Given the description of an element on the screen output the (x, y) to click on. 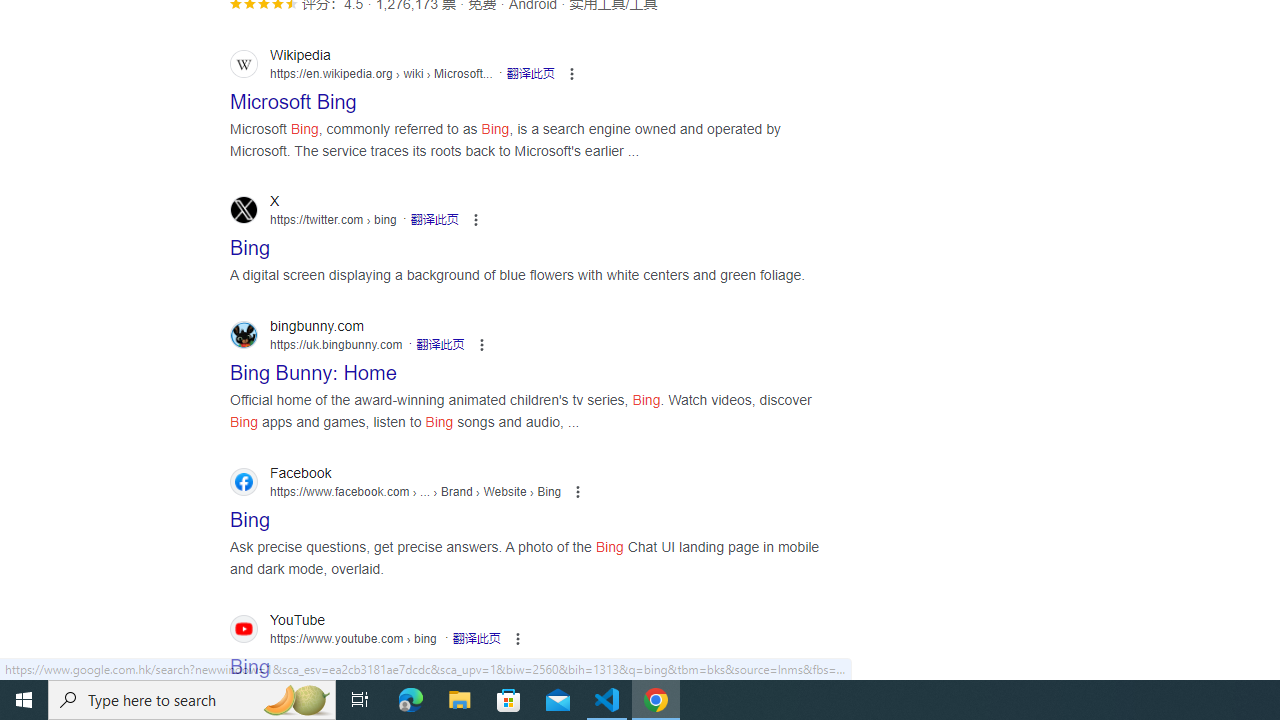
 Bing Bunny: Home bingbunny.com https://uk.bingbunny.com (313, 367)
